Given the description of an element on the screen output the (x, y) to click on. 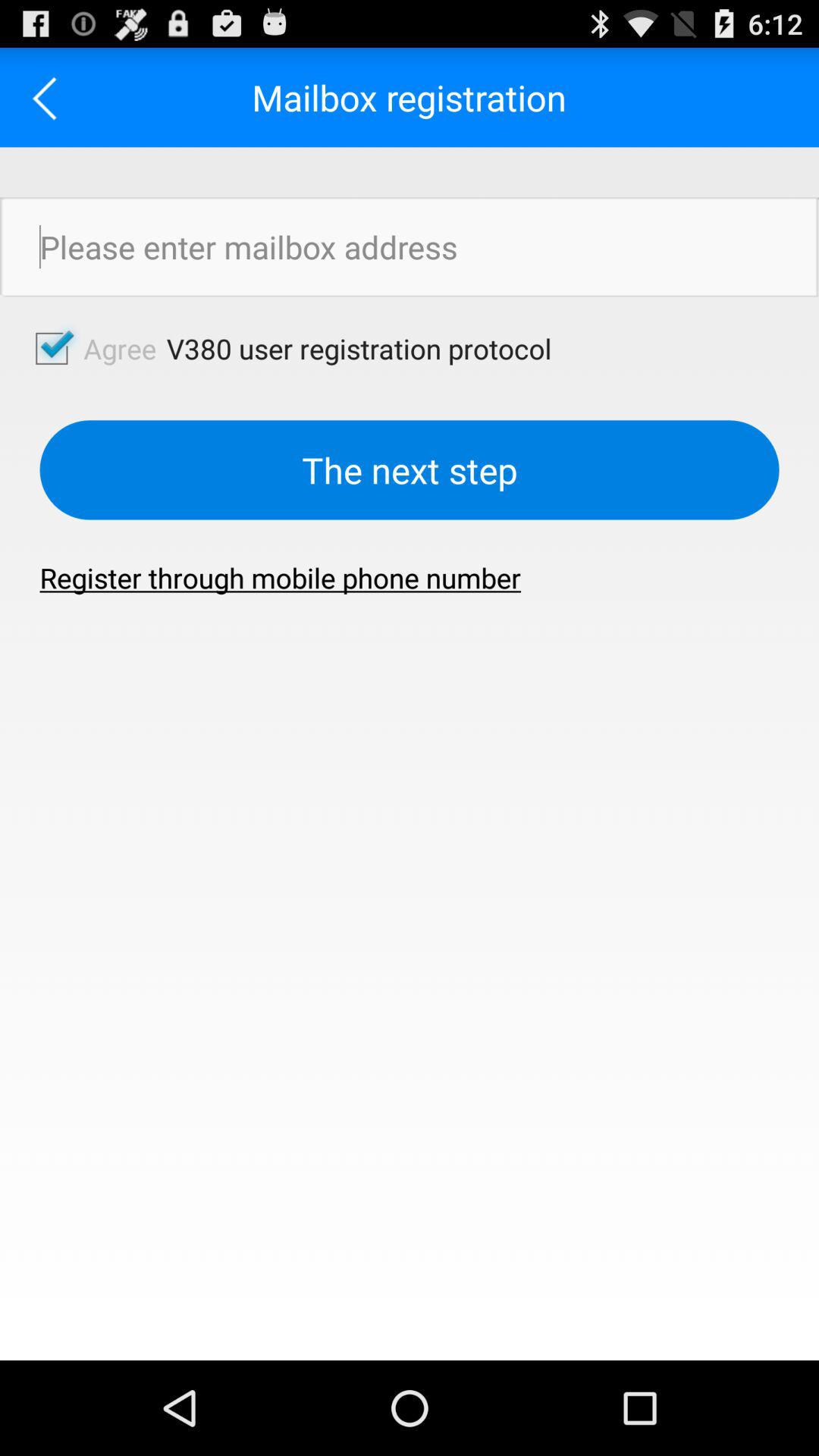
tap register through mobile icon (279, 577)
